Given the description of an element on the screen output the (x, y) to click on. 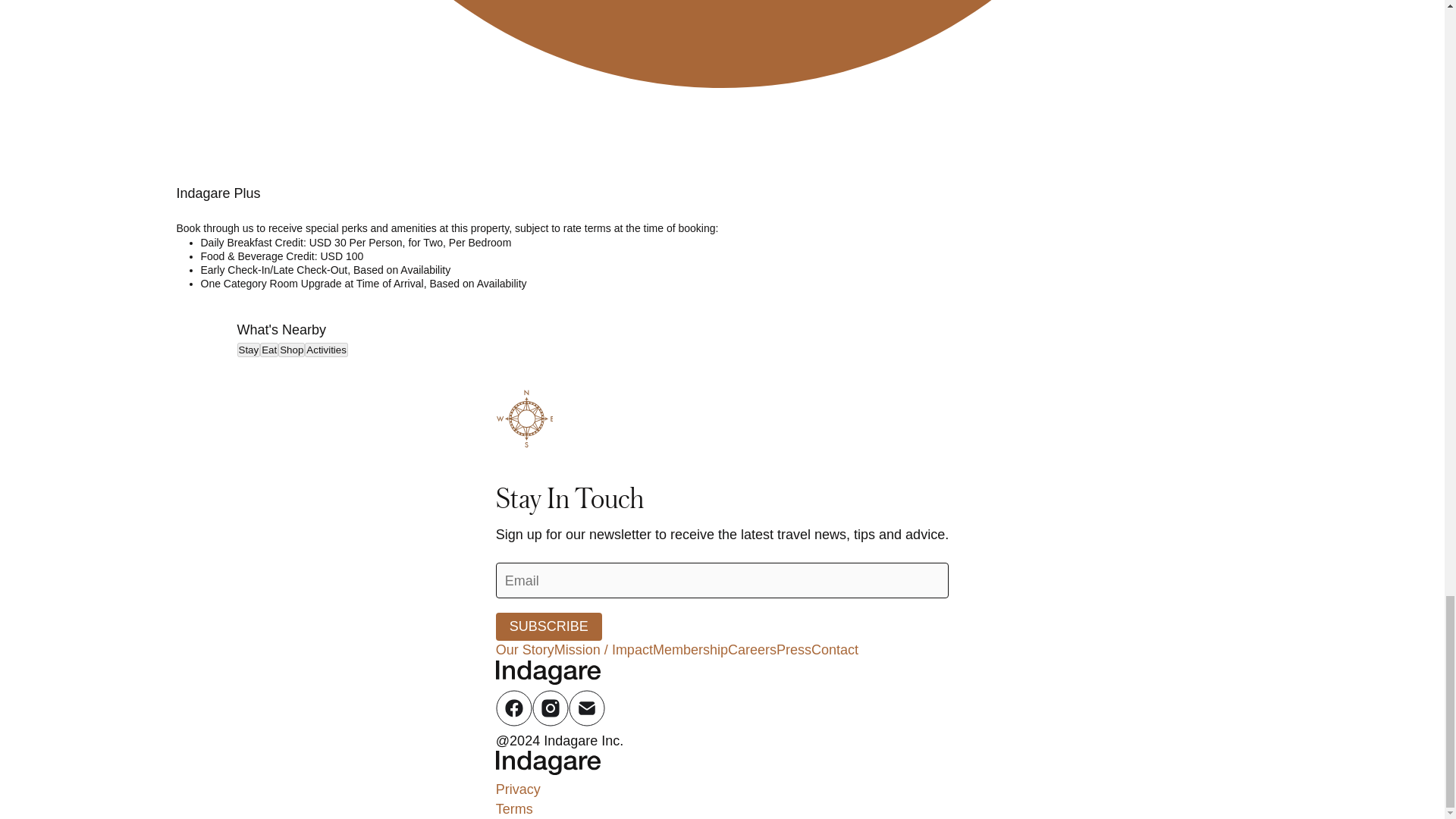
Contact (834, 649)
Activities (325, 350)
SUBSCRIBE (549, 626)
Shop (291, 350)
Careers (752, 649)
Press (793, 649)
Eat (269, 350)
Stay (247, 350)
Our Story (525, 649)
Membership (690, 649)
